Given the description of an element on the screen output the (x, y) to click on. 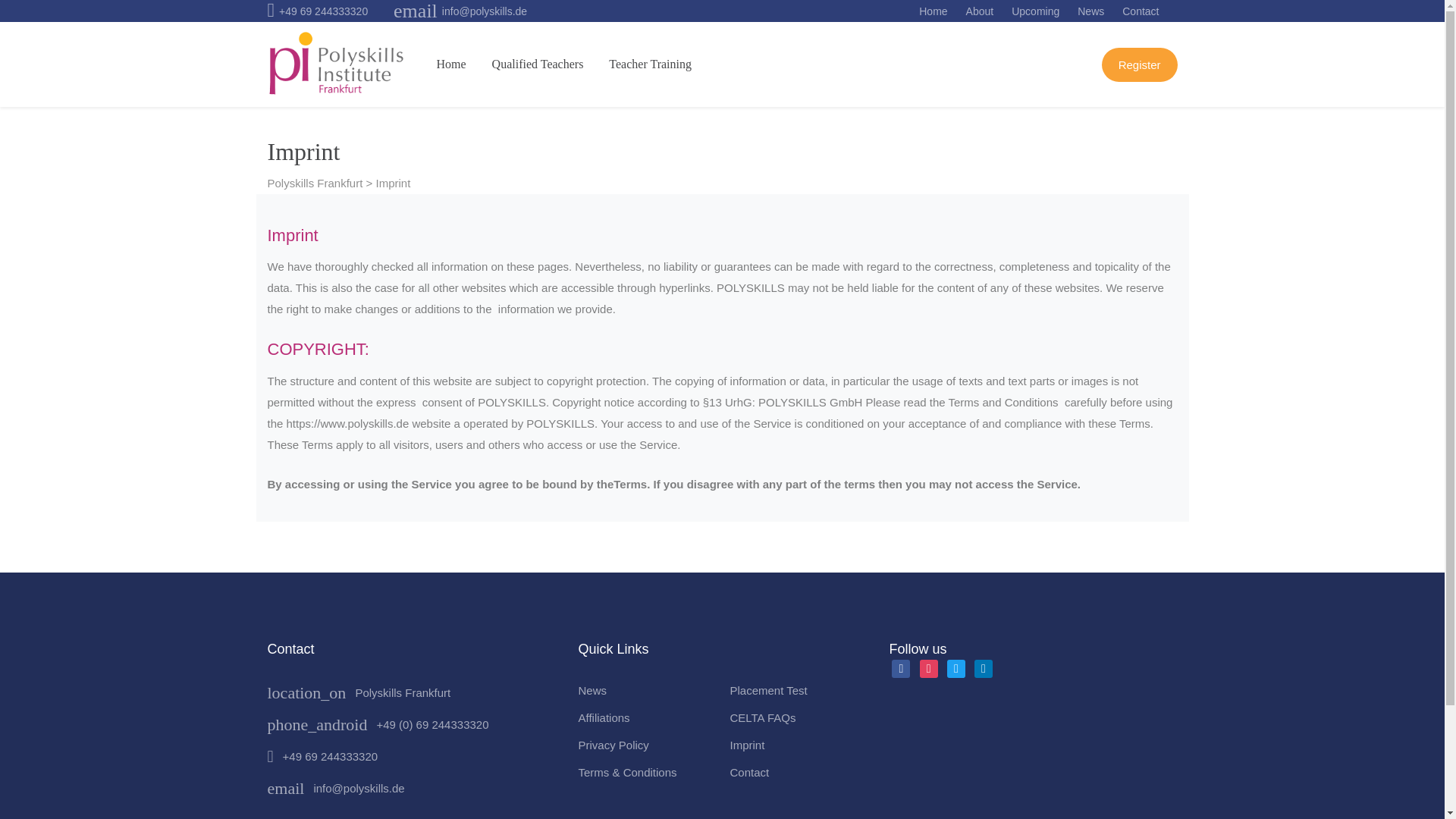
Affiliations (646, 718)
Placement Test (797, 690)
News (1090, 10)
Privacy Policy (646, 745)
News (646, 690)
facebook (900, 667)
Home (452, 64)
Contact (797, 772)
Polyskills Frankfurt (402, 692)
Home (933, 10)
